Given the description of an element on the screen output the (x, y) to click on. 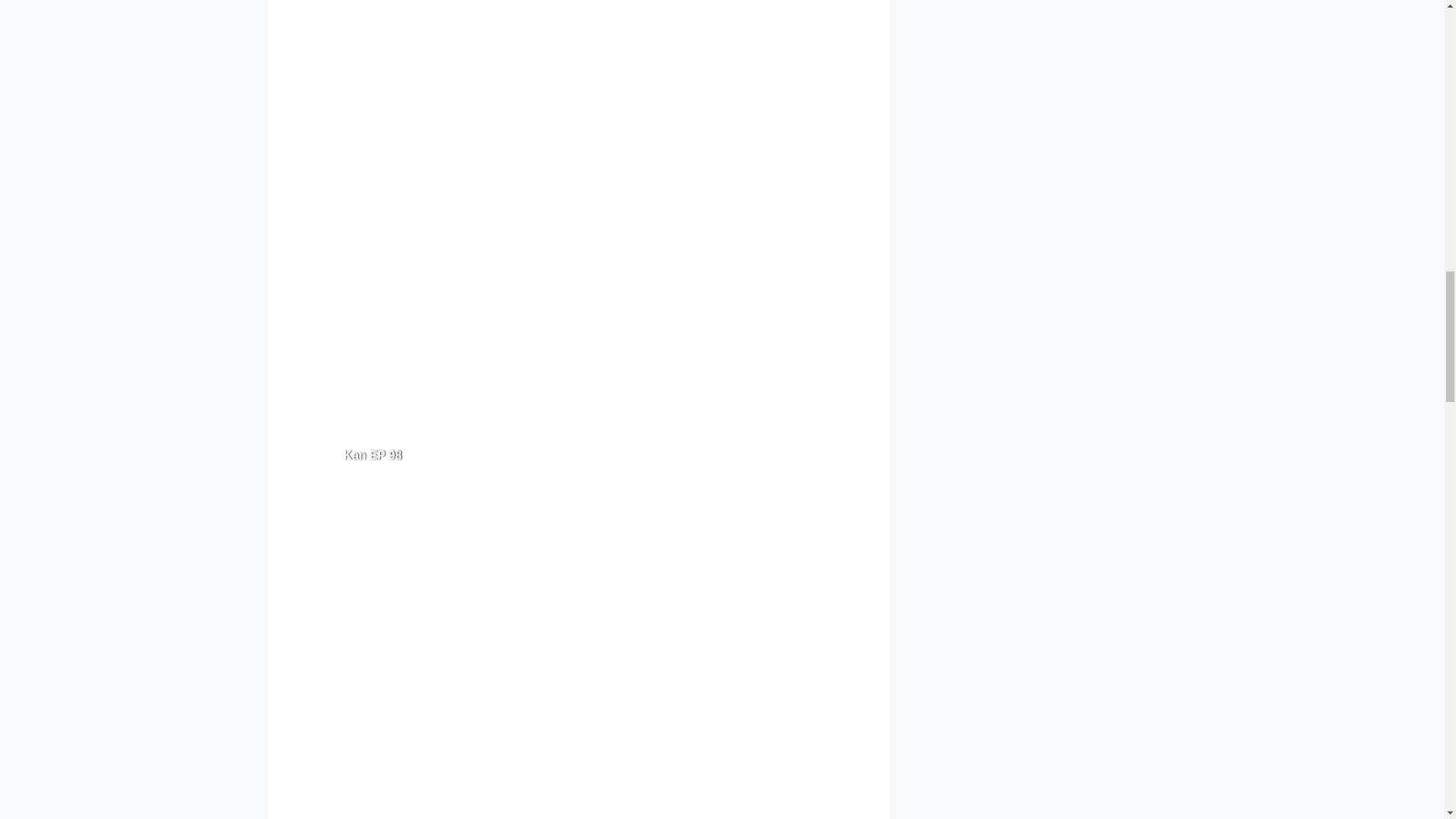
Advertisement (581, 773)
Advertisement (581, 309)
Advertisement (581, 91)
